Given the description of an element on the screen output the (x, y) to click on. 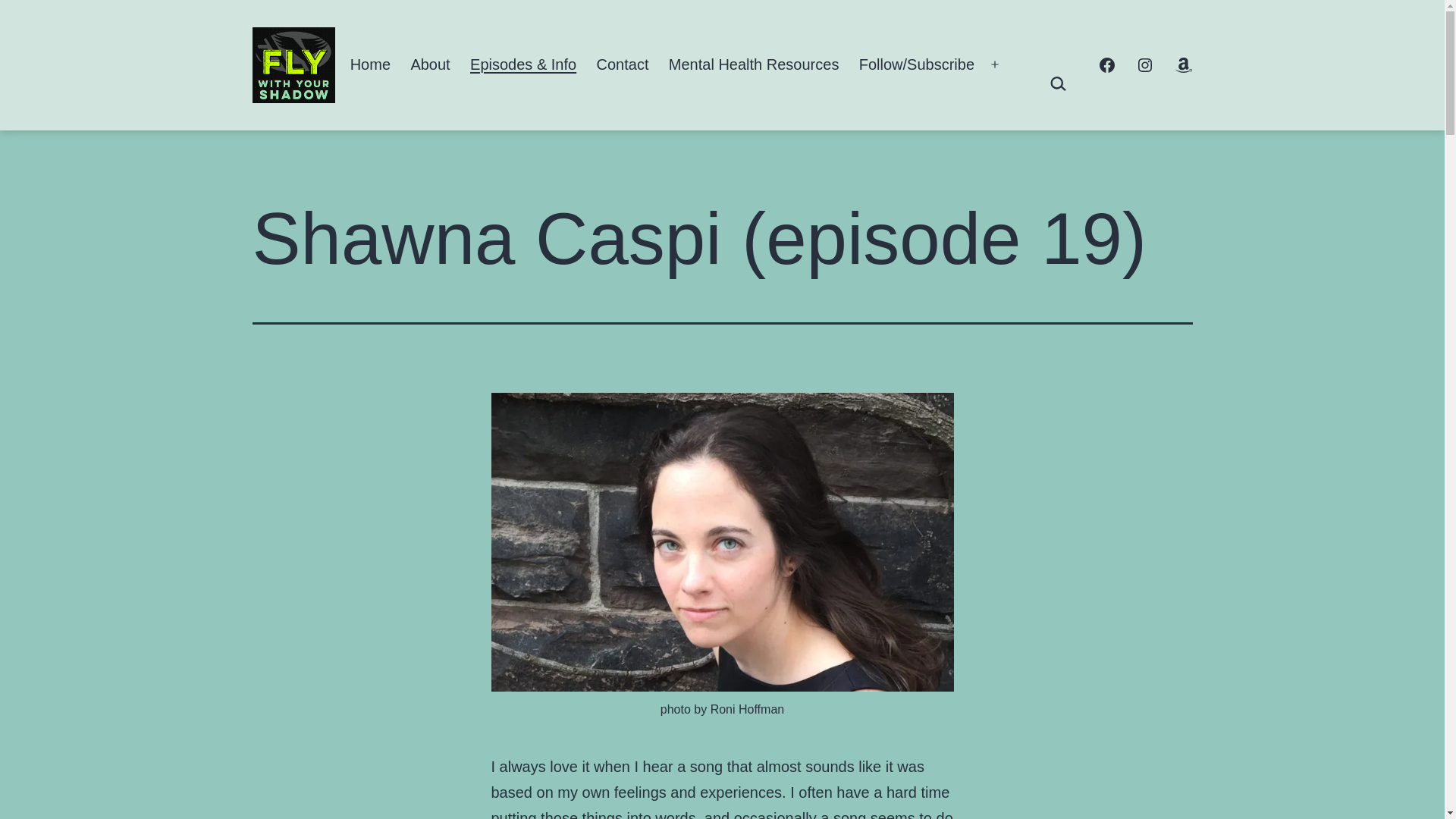
Instagram (1144, 64)
Contact (622, 64)
Facebook (1106, 64)
About (430, 64)
Amazon Music (1182, 64)
Home (369, 64)
Mental Health Resources (753, 64)
